Given the description of an element on the screen output the (x, y) to click on. 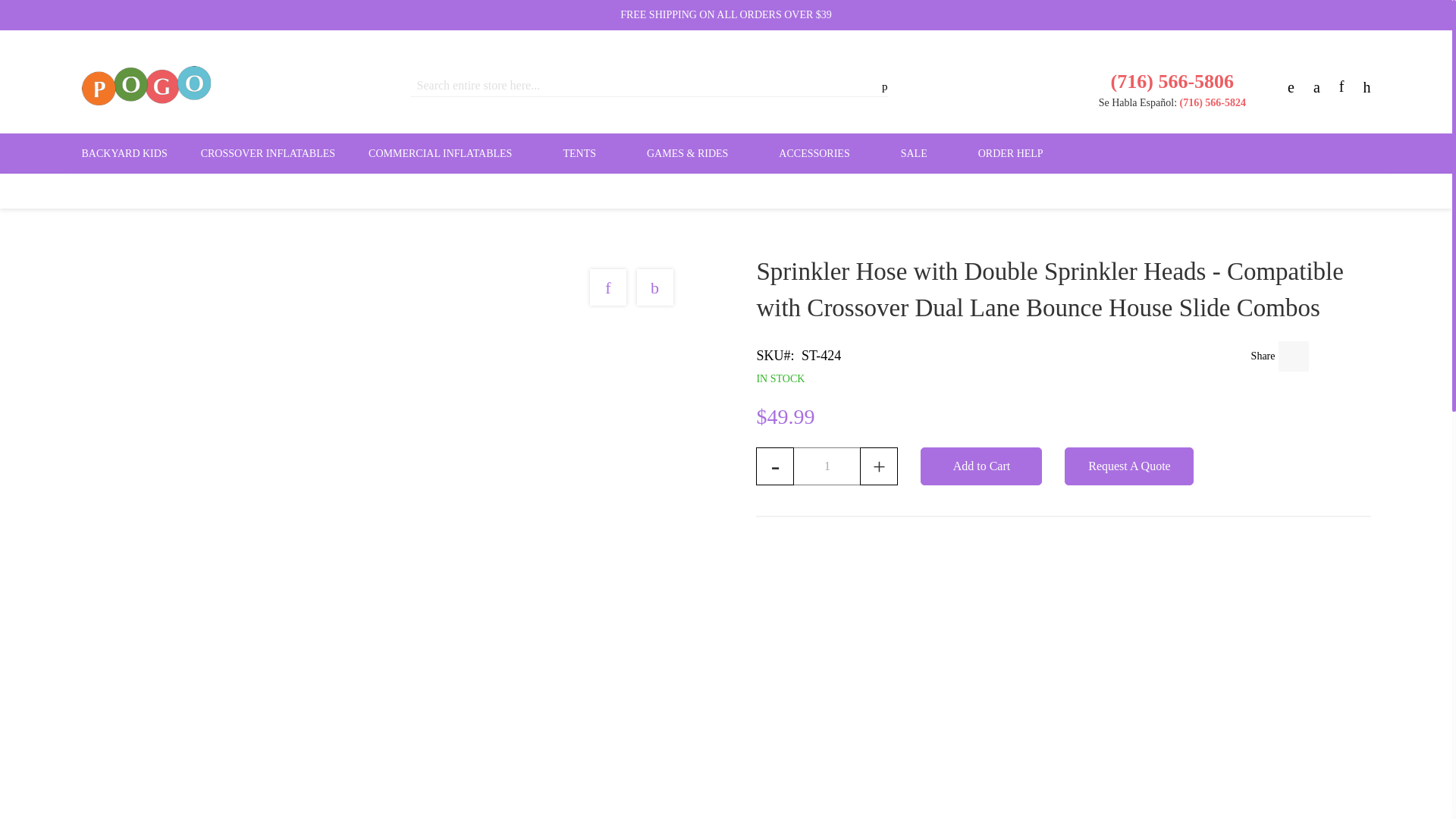
Qty (826, 466)
TENTS (588, 153)
Availability (1031, 378)
Request A Quote (1128, 466)
CROSSOVER INFLATABLES (267, 153)
COMMERCIAL INFLATABLES (448, 153)
1 (826, 466)
pogobouncehouse.com (146, 85)
Add to Cart (981, 466)
BACKYARD KIDS (124, 153)
